Given the description of an element on the screen output the (x, y) to click on. 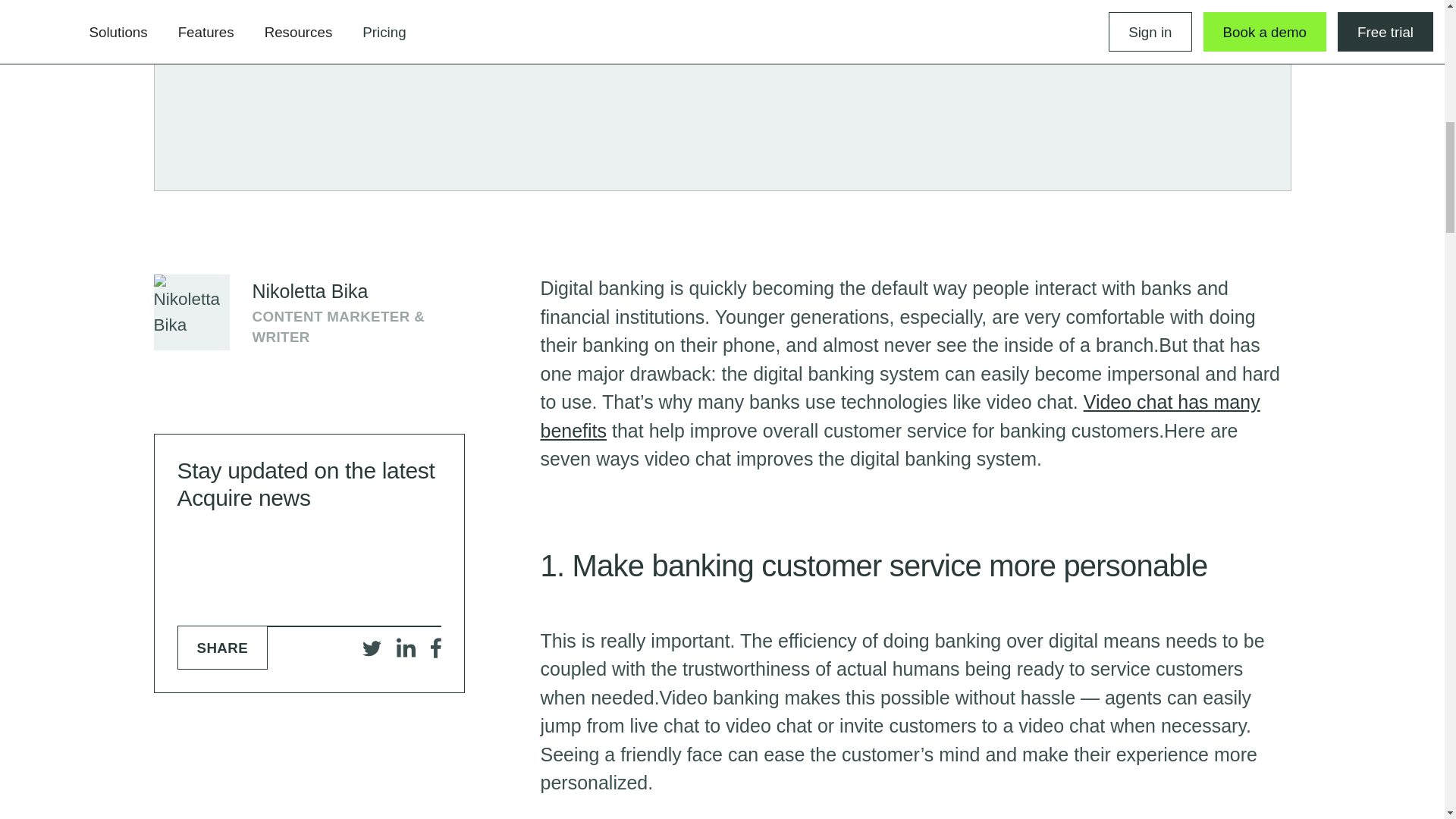
Share on LinkedIn (405, 648)
Share on Twitter (371, 648)
Video chat has many benefits (899, 416)
Share on Facebook (435, 648)
